Given the description of an element on the screen output the (x, y) to click on. 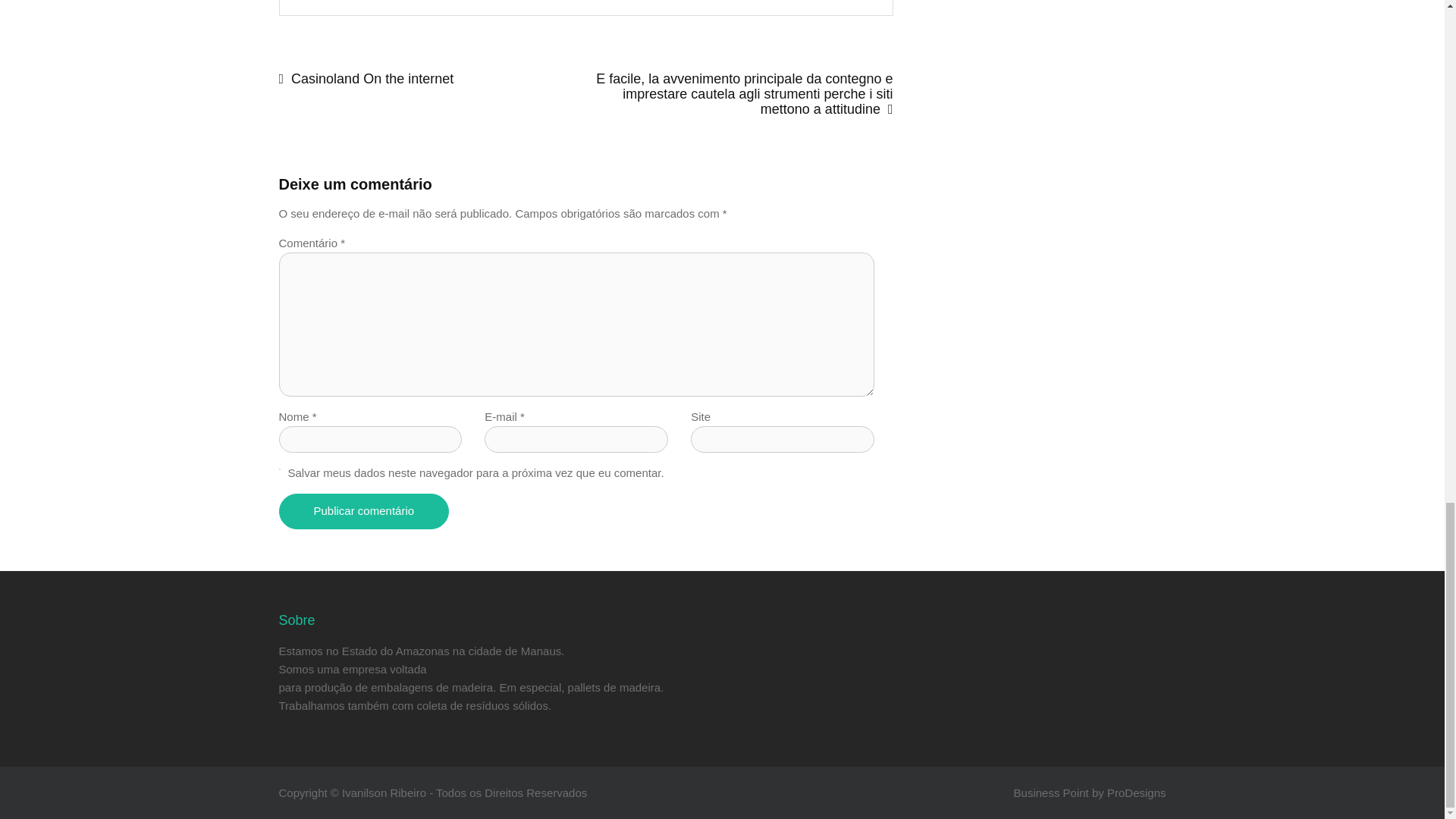
ProDesigns (1136, 792)
Casinoland On the internet (432, 79)
